Given the description of an element on the screen output the (x, y) to click on. 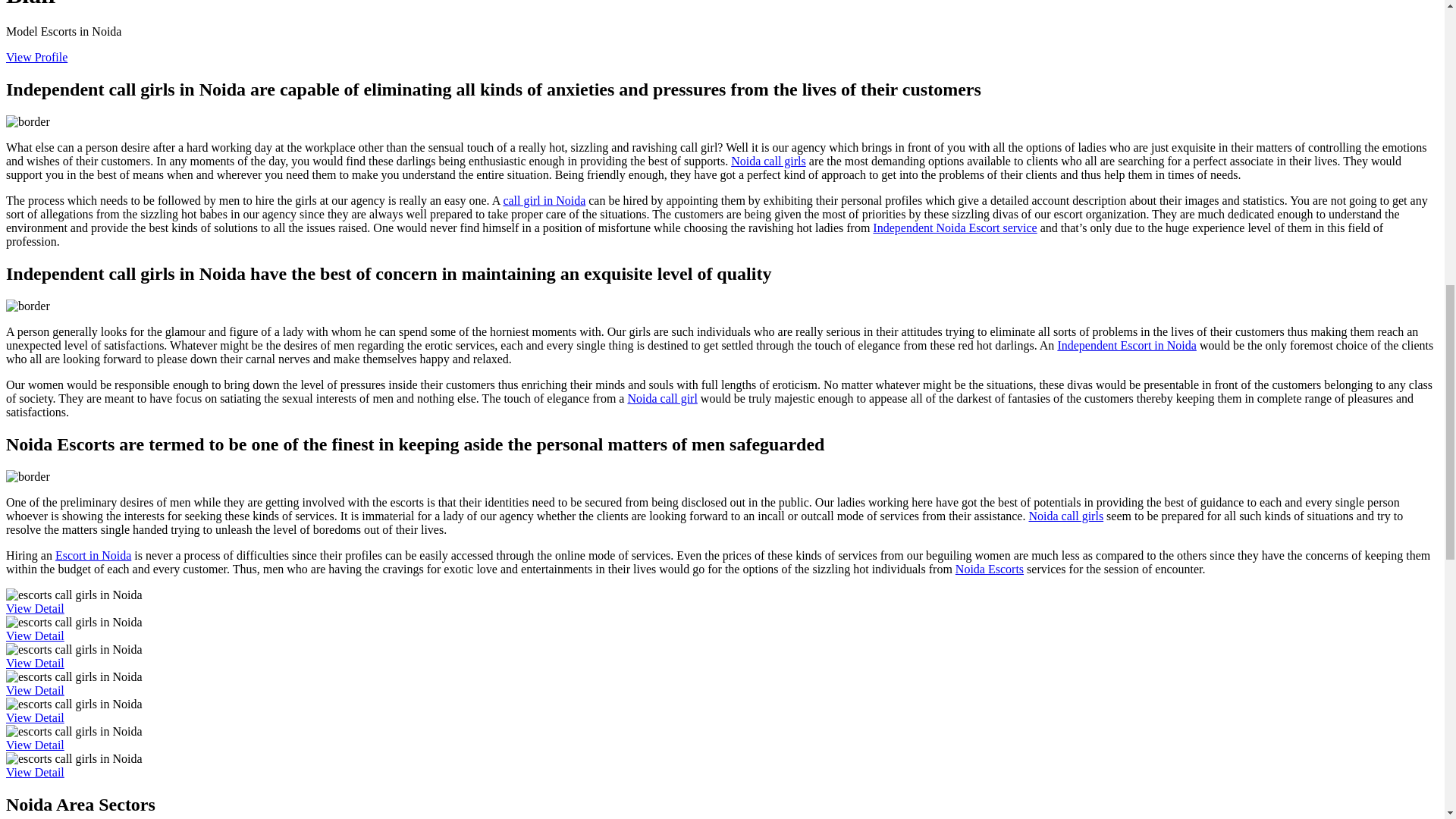
airhostages escorts call girls in Noida (73, 594)
View Detail (34, 689)
college escorts call girls in Noida (73, 676)
View Detail (34, 717)
Noida Escorts (989, 568)
call girl in Noida (543, 200)
View Detail (34, 635)
View Detail (34, 608)
View Detail (34, 662)
Noida call girls (1065, 515)
View Detail (34, 744)
college escorts call girls in Noida (73, 649)
Noida call girls (768, 160)
celebrity escorts call girls in Noida (73, 704)
airhostages escorts call girls in Noida (73, 758)
